Given the description of an element on the screen output the (x, y) to click on. 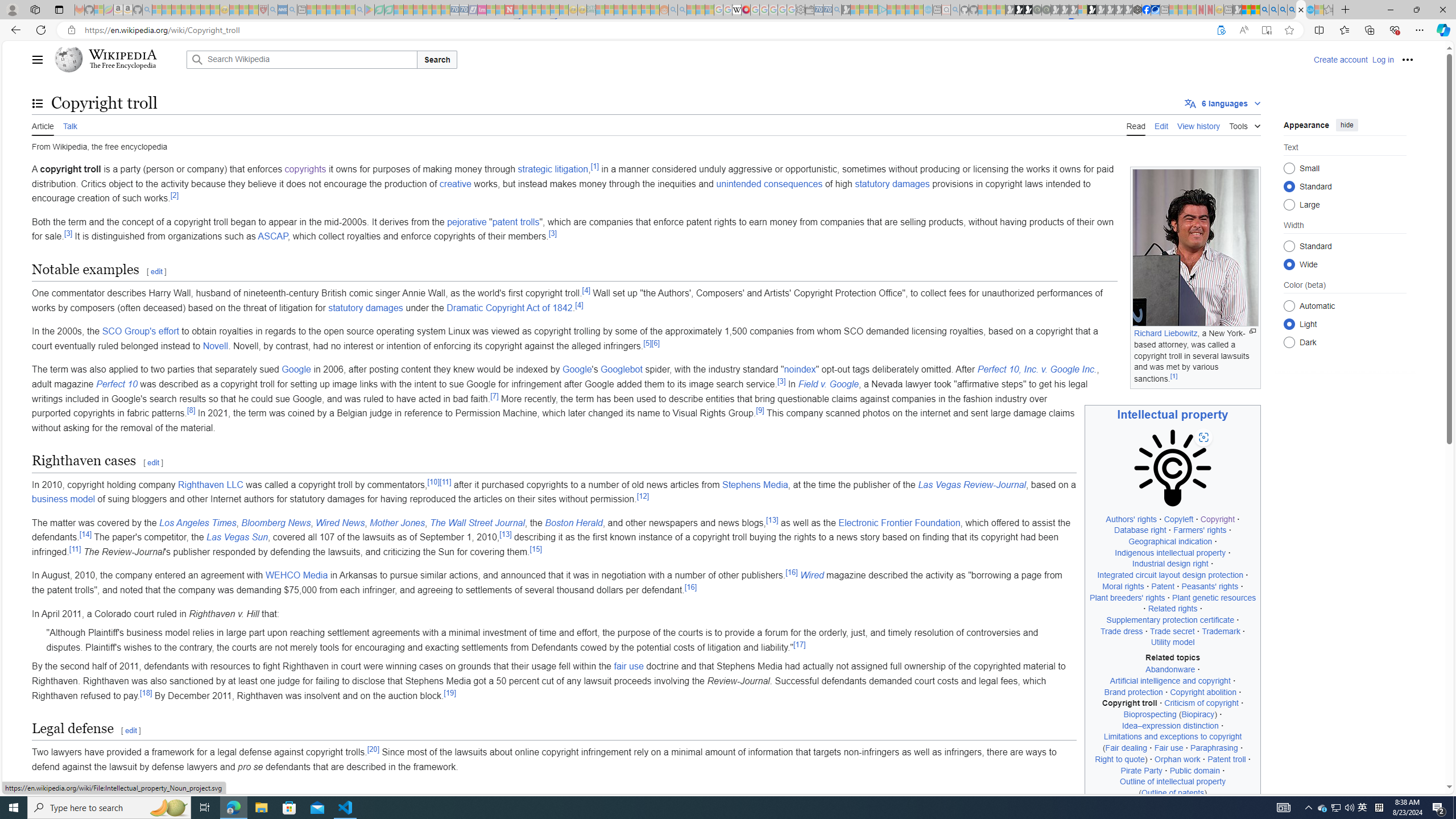
Biopiracy (1197, 714)
noindex (799, 369)
View history (1198, 124)
Los Angeles Times (196, 522)
Richard Liebowitz (1166, 333)
Class: mw-file-element (1172, 468)
[15] (535, 548)
Create account (1340, 58)
